Given the description of an element on the screen output the (x, y) to click on. 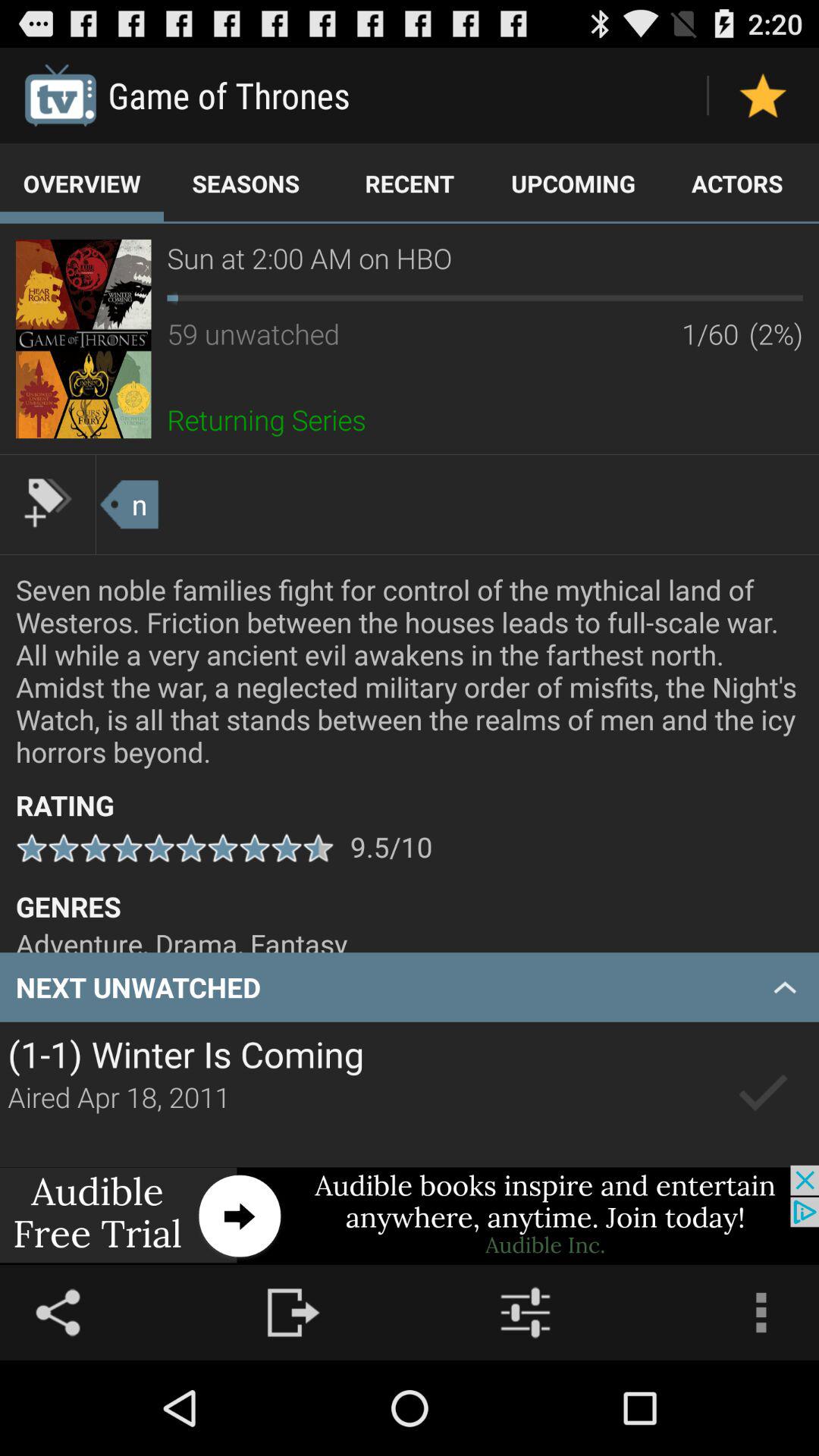
the tag another image (47, 502)
